Given the description of an element on the screen output the (x, y) to click on. 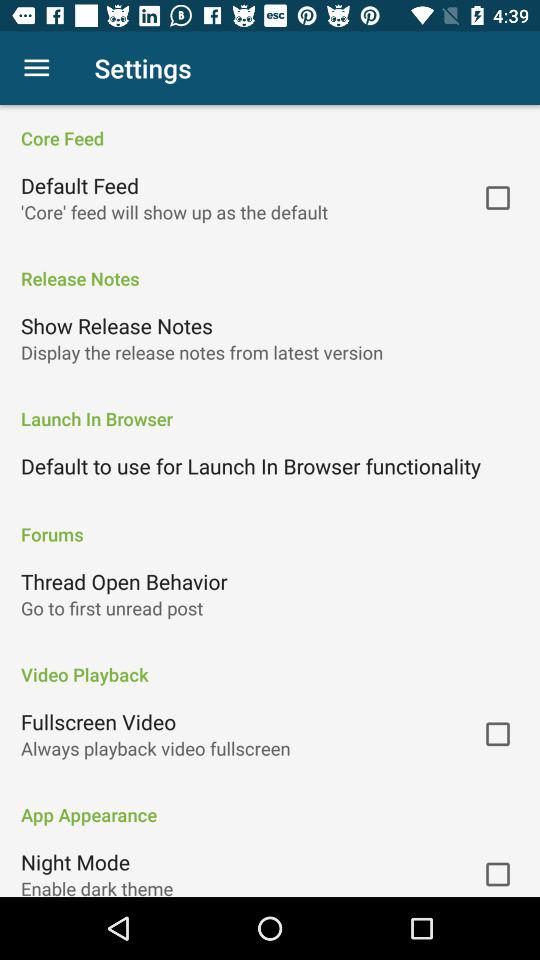
turn on the icon above the enable dark theme (75, 861)
